Given the description of an element on the screen output the (x, y) to click on. 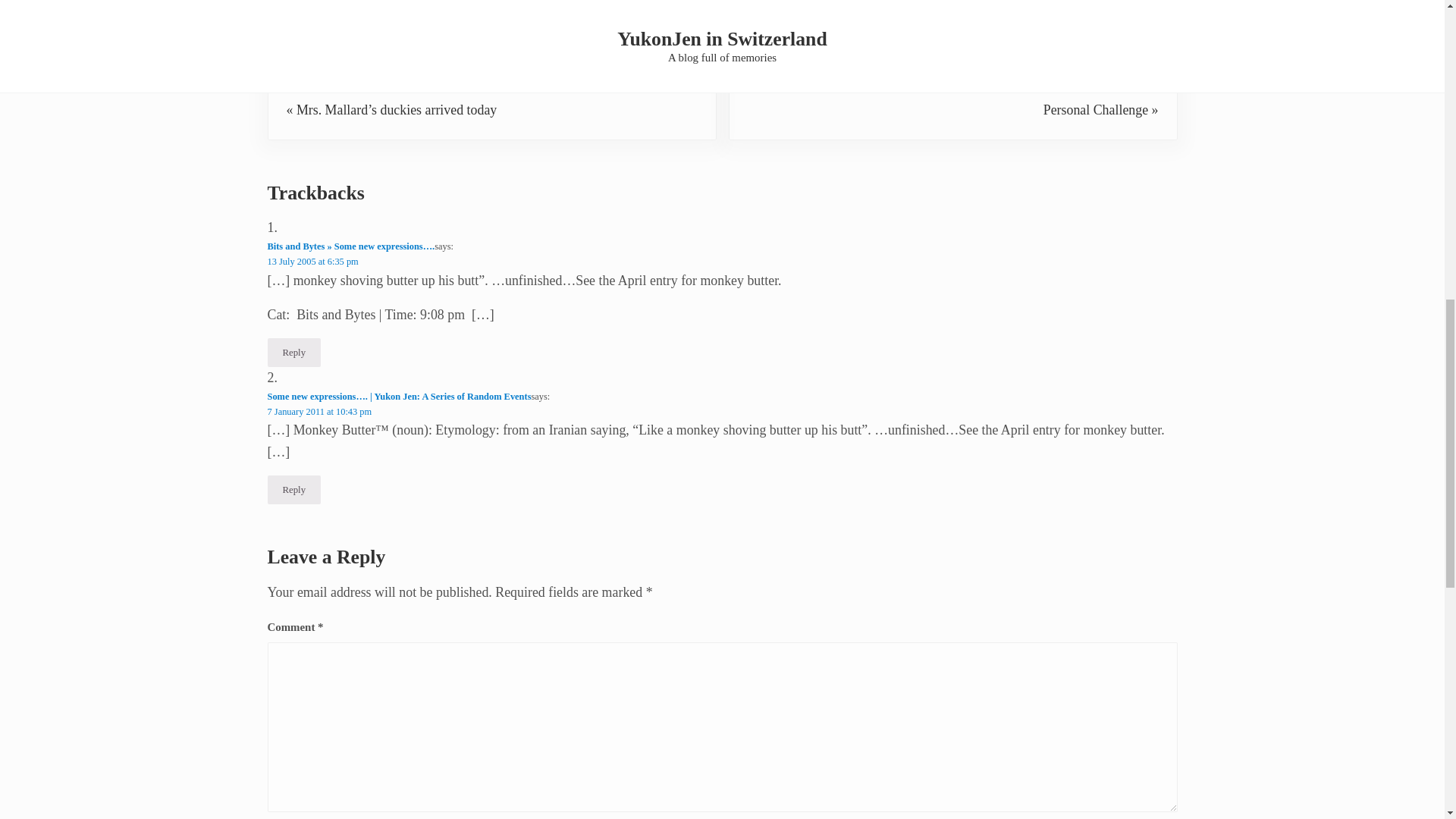
13 July 2005 at 6:35 pm (312, 261)
7 January 2011 at 10:43 pm (318, 411)
Reply (293, 352)
Reply (293, 489)
